Given the description of an element on the screen output the (x, y) to click on. 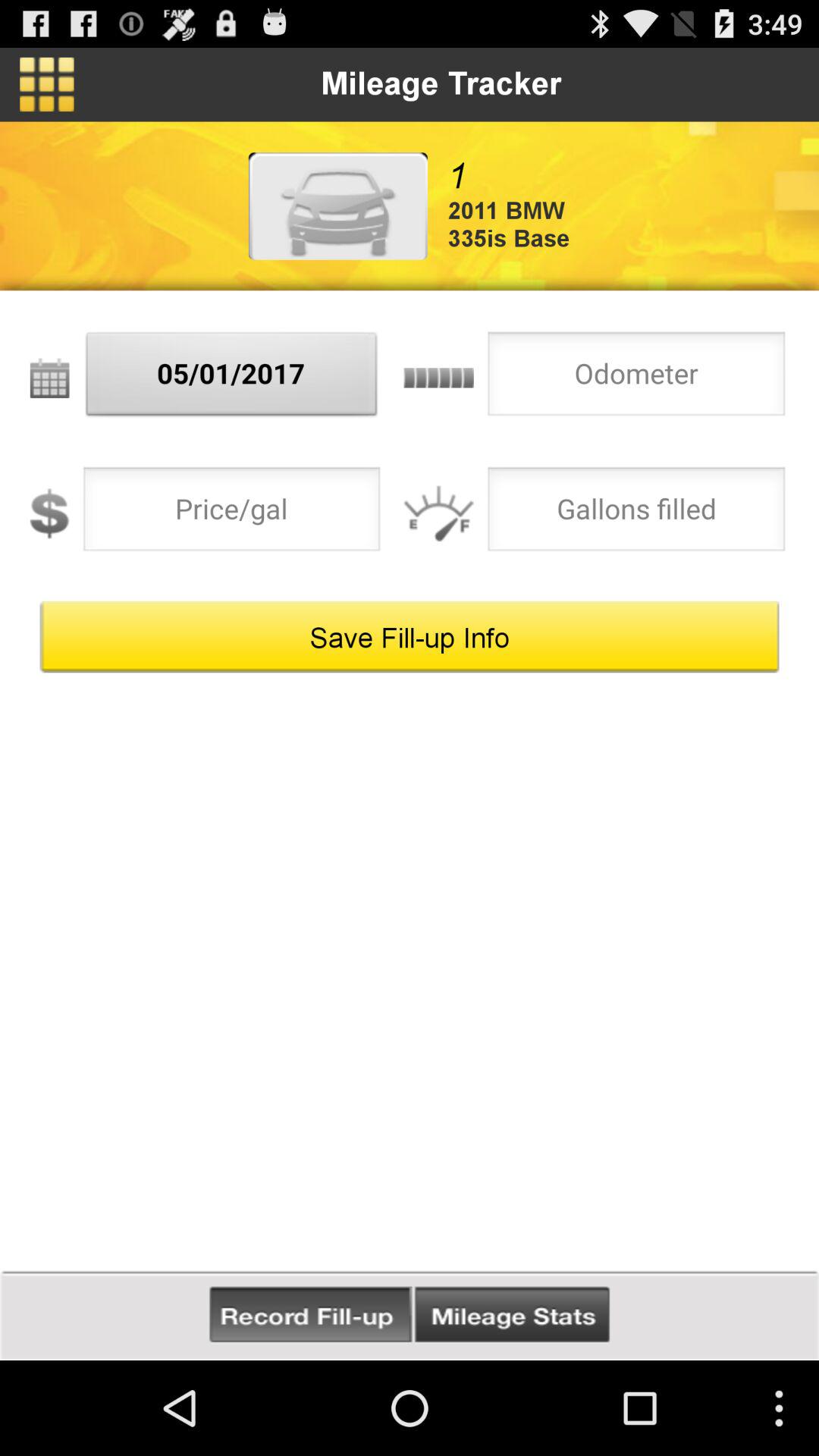
view mileage stats (511, 1315)
